Given the description of an element on the screen output the (x, y) to click on. 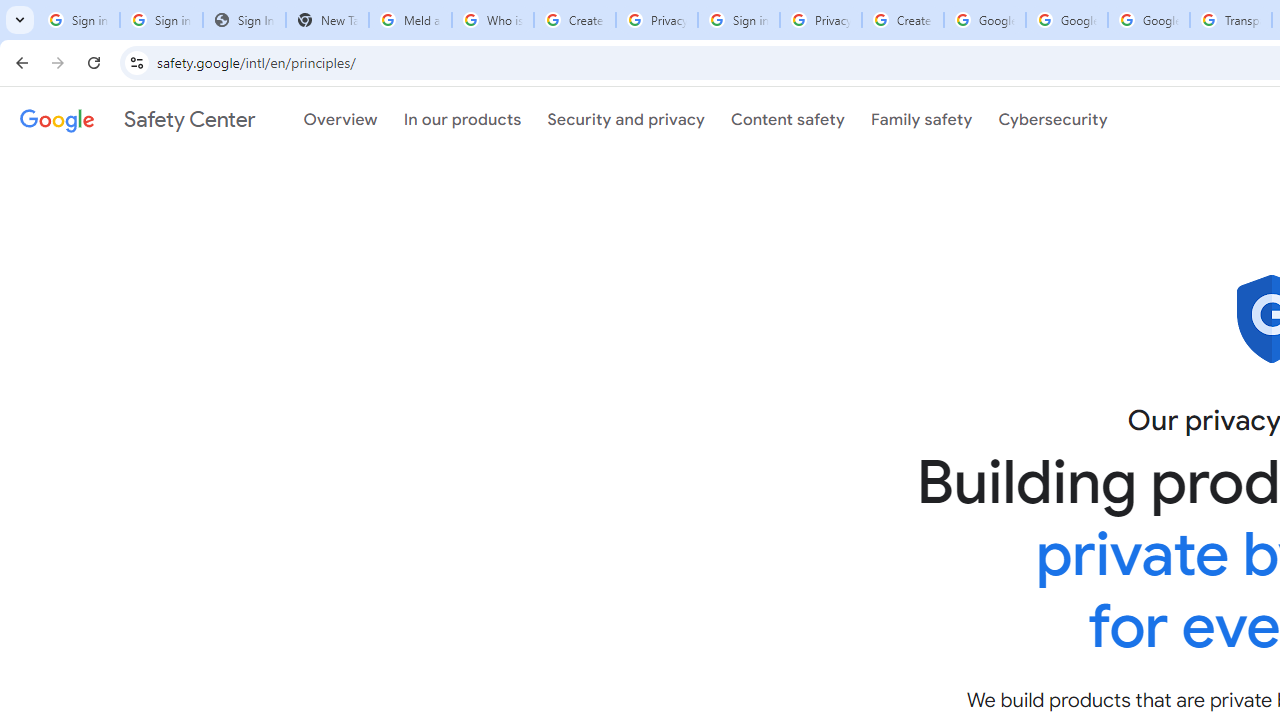
Security and privacy (626, 119)
Sign in - Google Accounts (738, 20)
In our products (462, 119)
Safety Center (137, 119)
Who is my administrator? - Google Account Help (492, 20)
